Given the description of an element on the screen output the (x, y) to click on. 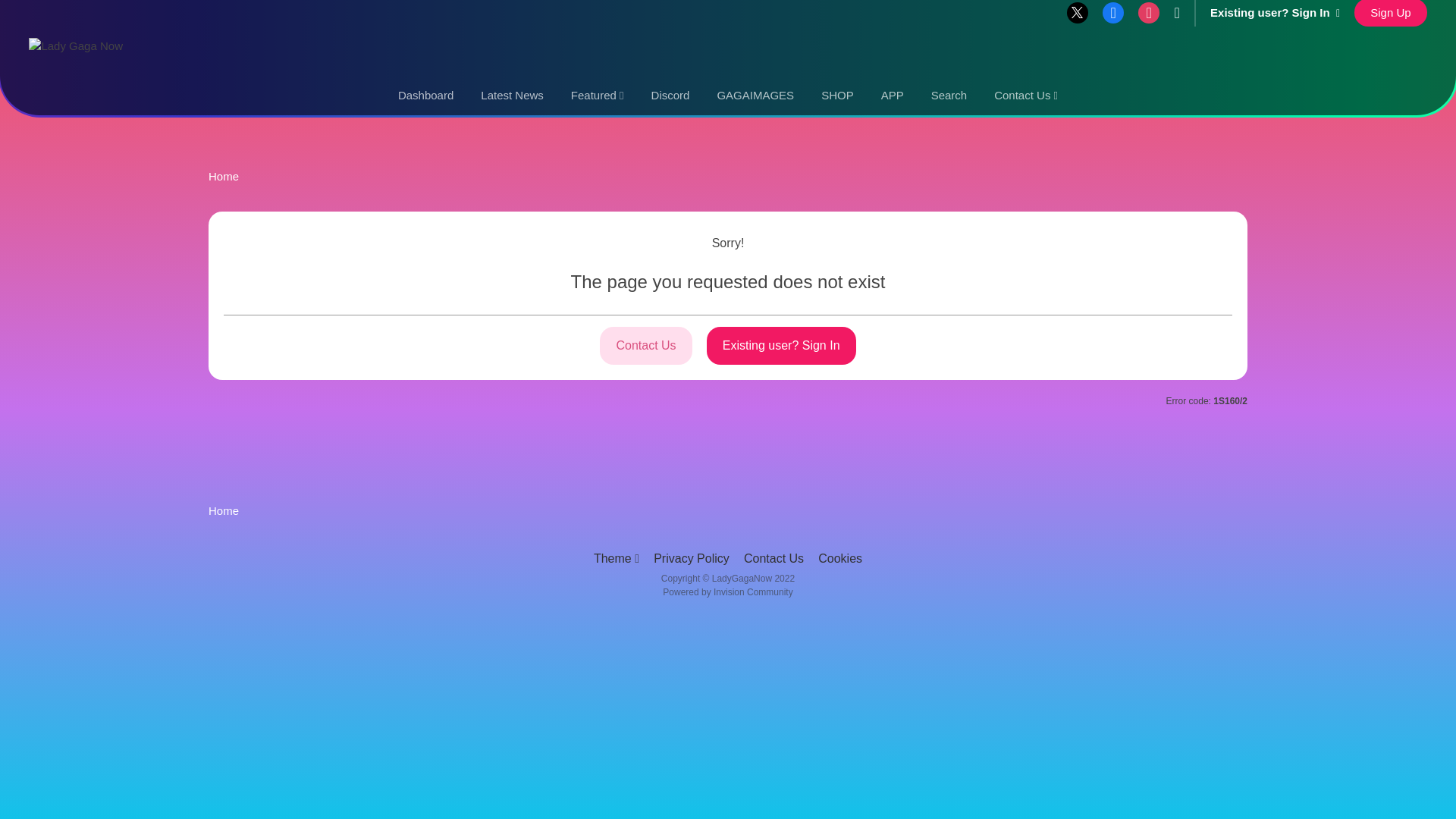
Search (949, 95)
Invision Community (727, 592)
Home (223, 510)
SHOP (837, 95)
Existing user? Sign In   (1274, 11)
Sign Up (1390, 13)
Dashboard (425, 95)
Featured (597, 95)
Home (223, 175)
Contact Us (1025, 95)
